Given the description of an element on the screen output the (x, y) to click on. 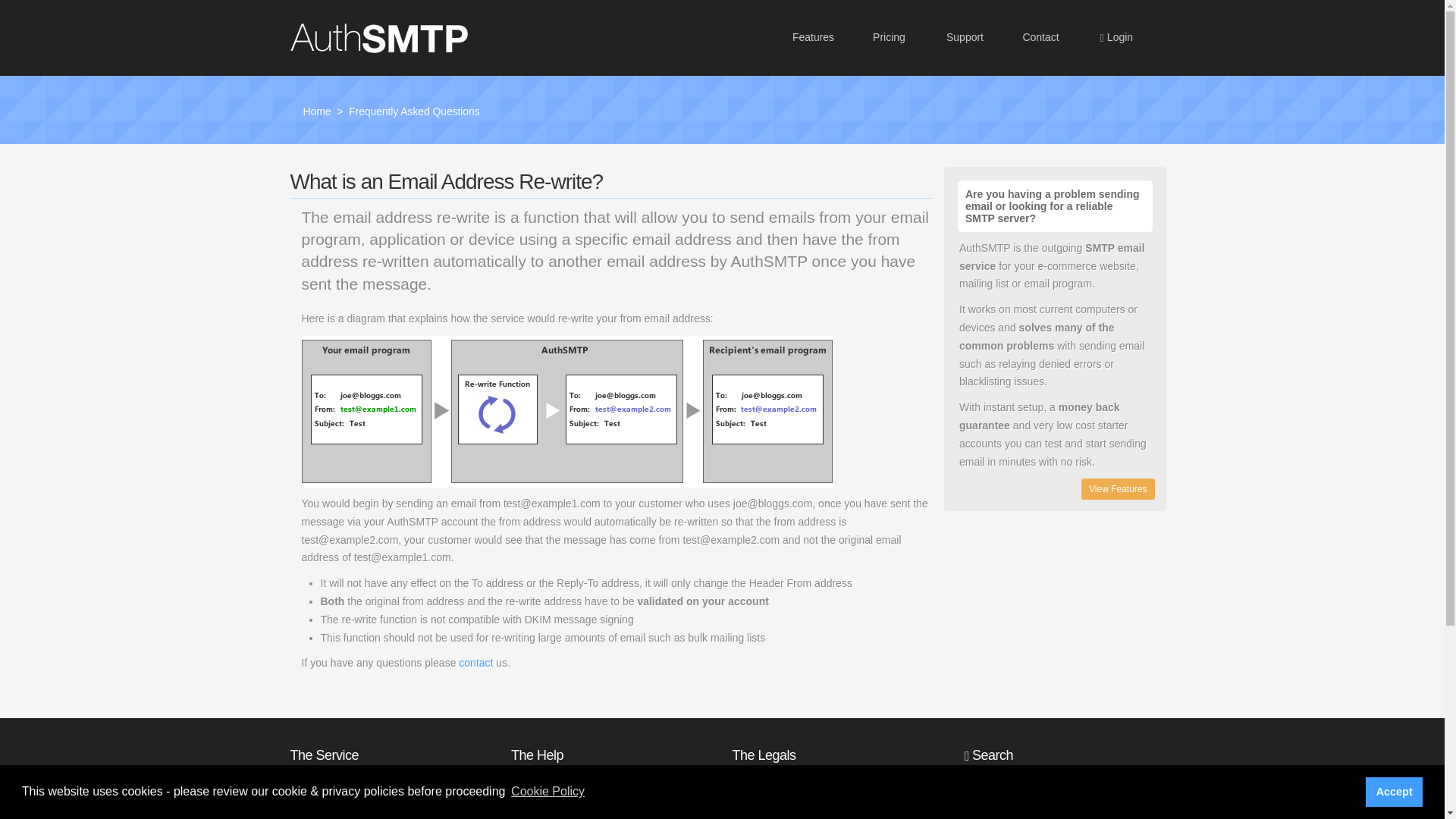
Contact (1040, 38)
contact (475, 662)
Login (1116, 38)
Accept (1393, 791)
Support (964, 38)
Service Status (545, 779)
Terms of Service (771, 806)
Features (310, 806)
Frequently Asked Questions (414, 111)
Home (303, 779)
Features (812, 38)
Home (316, 111)
View Features (1117, 488)
GDPR (747, 779)
Cookie Policy (547, 791)
